Given the description of an element on the screen output the (x, y) to click on. 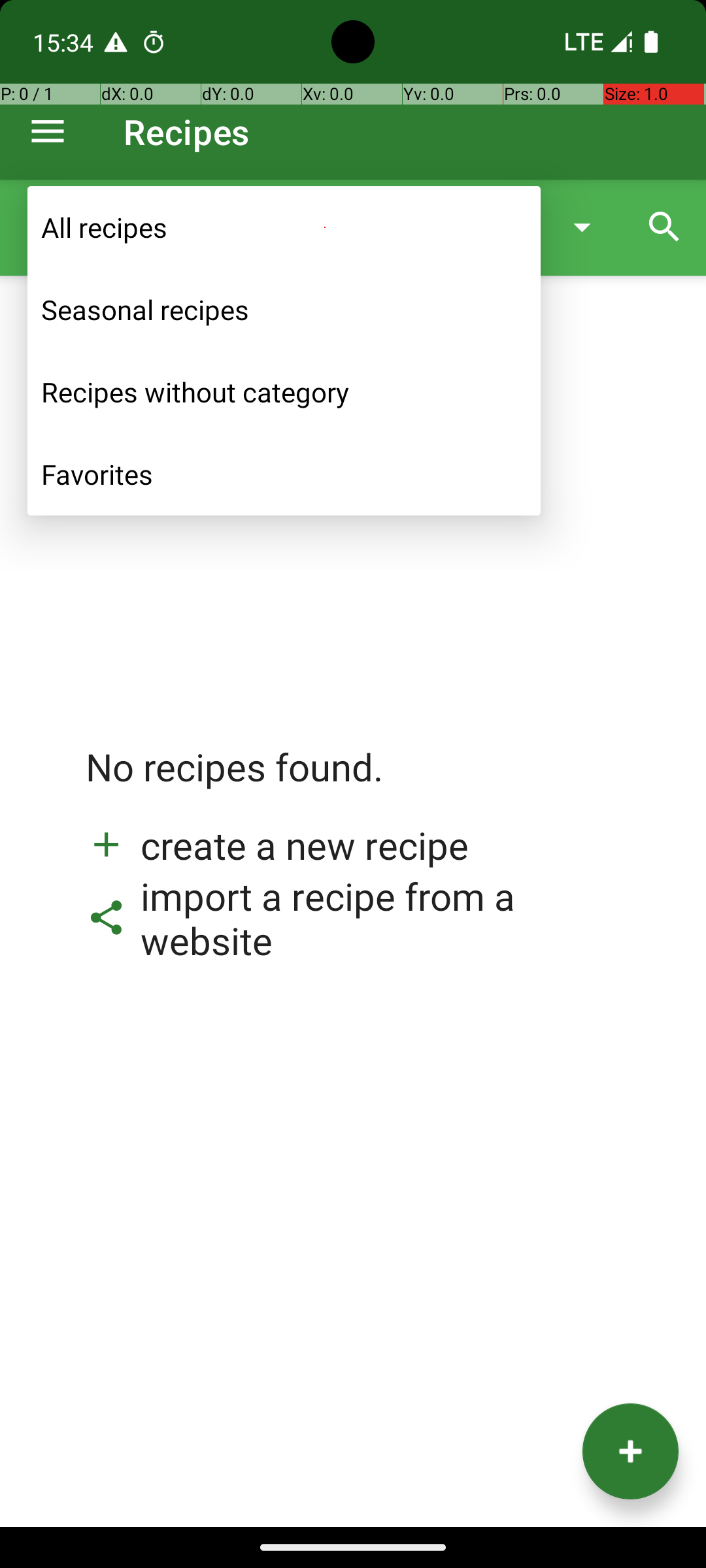
Seasonal recipes Element type: android.widget.CheckedTextView (283, 309)
Recipes without category Element type: android.widget.CheckedTextView (283, 391)
Favorites Element type: android.widget.CheckedTextView (283, 474)
